Given the description of an element on the screen output the (x, y) to click on. 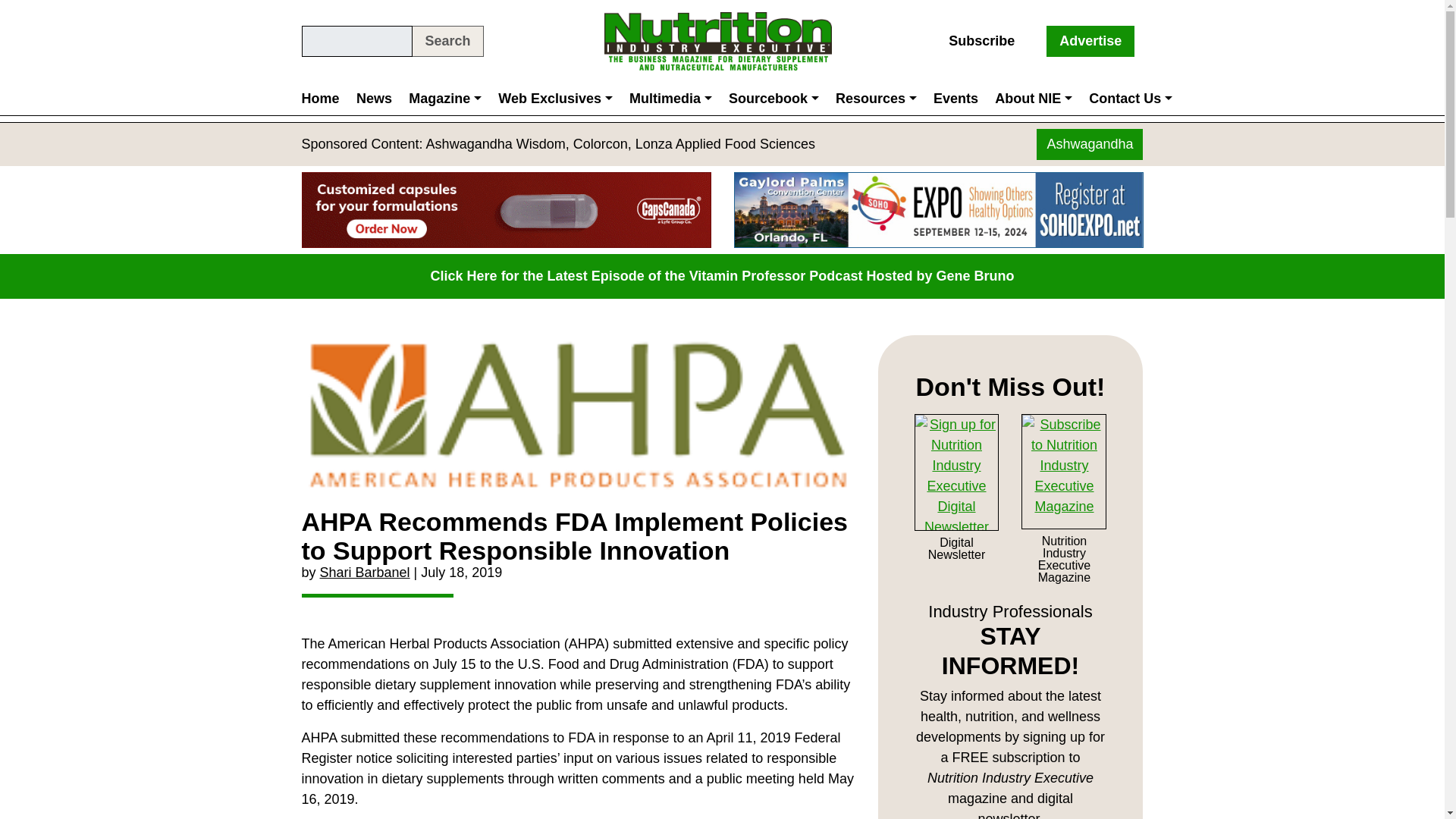
Web Exclusives (555, 98)
Home (324, 98)
Home (324, 98)
News (373, 98)
Sourcebook (773, 98)
Resources (875, 98)
News (373, 98)
Sourcebook (773, 98)
Magazine (444, 98)
Advertise (1090, 40)
Resources (875, 98)
About NIE (1033, 98)
Search (447, 40)
Contact Us (1130, 98)
Magazine (444, 98)
